Given the description of an element on the screen output the (x, y) to click on. 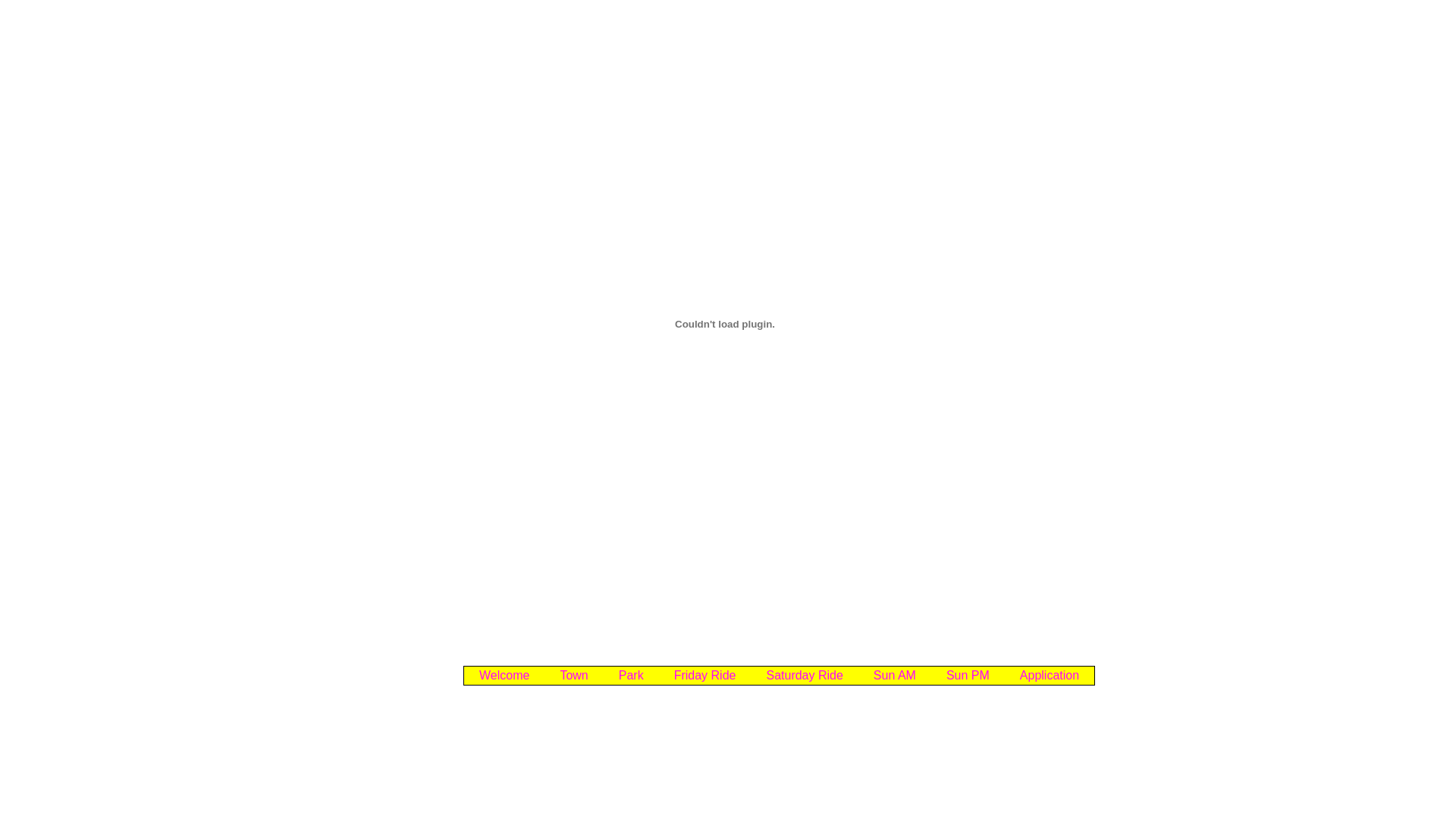
Saturday Ride Element type: text (803, 675)
Sun PM Element type: text (967, 675)
Welcome Element type: text (504, 675)
Application Element type: text (1049, 675)
Town Element type: text (573, 675)
Friday Ride Element type: text (704, 675)
Park Element type: text (630, 675)
Sun AM Element type: text (894, 675)
